Given the description of an element on the screen output the (x, y) to click on. 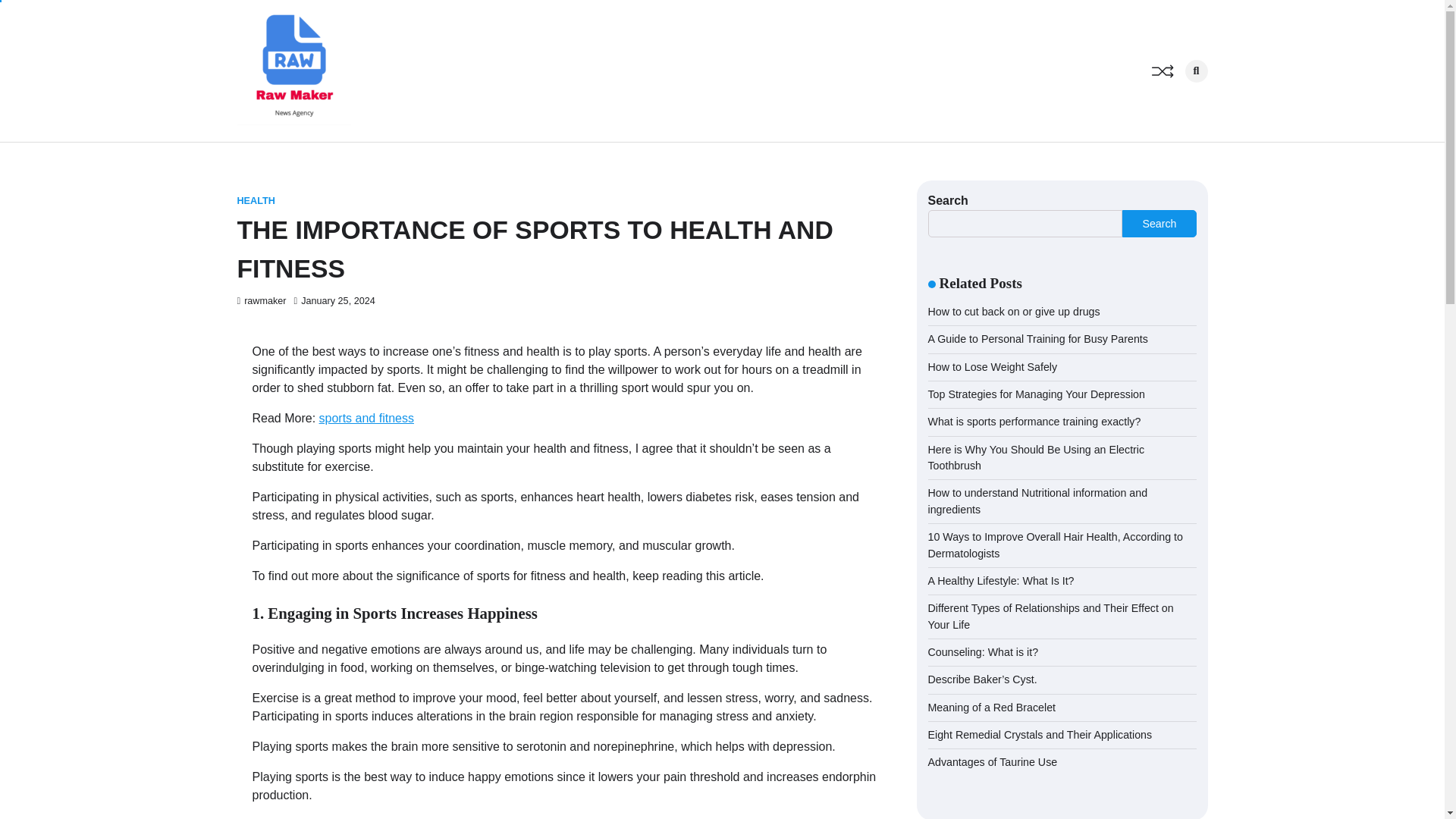
Counseling: What is it? (983, 652)
Advantages of Taurine Use (993, 761)
A Guide to Personal Training for Busy Parents (1038, 338)
Search (1170, 103)
Meaning of a Red Bracelet (992, 707)
Eight Remedial Crystals and Their Applications (1040, 734)
What is sports performance training exactly? (1034, 421)
Search (1158, 223)
Here is Why You Should Be Using an Electric Toothbrush (1036, 457)
How to cut back on or give up drugs (1014, 311)
How to Lose Weight Safely (993, 367)
A Healthy Lifestyle: What Is It? (1001, 580)
January 25, 2024 (334, 300)
sports and fitness (365, 418)
